Given the description of an element on the screen output the (x, y) to click on. 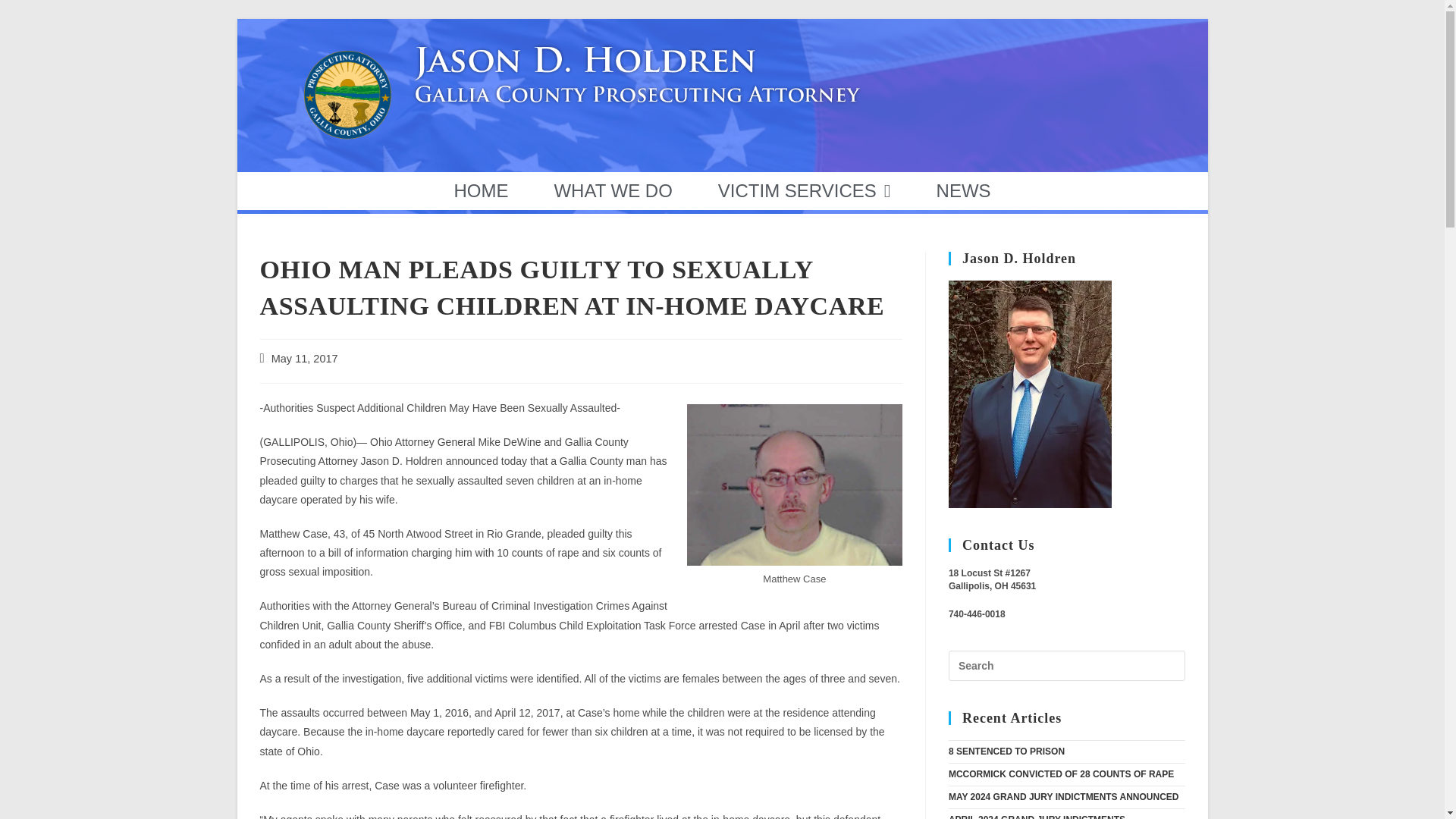
HOME (480, 190)
NEWS (963, 190)
WHAT WE DO (612, 190)
VICTIM SERVICES (804, 190)
